Given the description of an element on the screen output the (x, y) to click on. 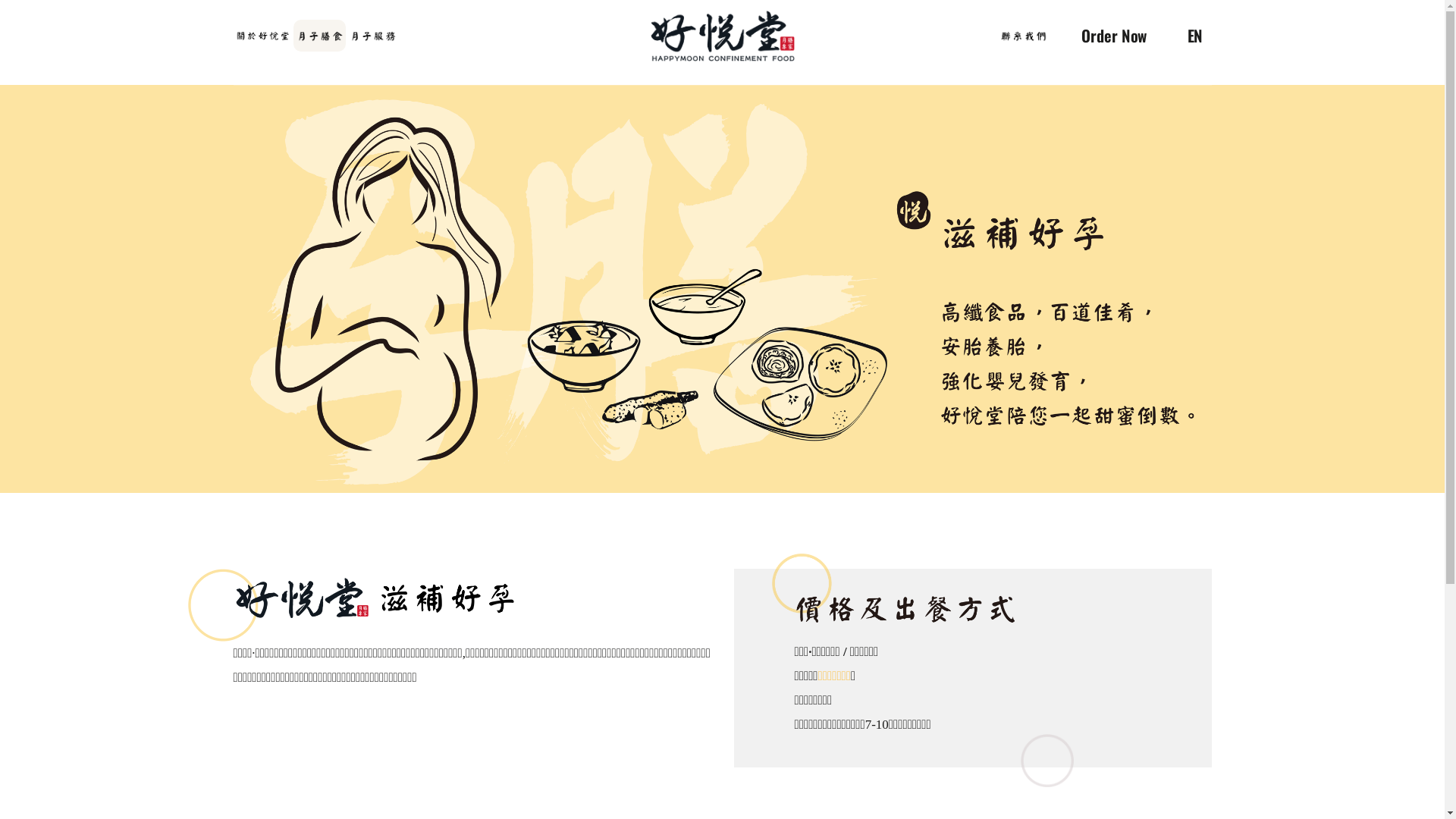
Order Now Element type: text (1122, 39)
EN Element type: text (1197, 39)
